Given the description of an element on the screen output the (x, y) to click on. 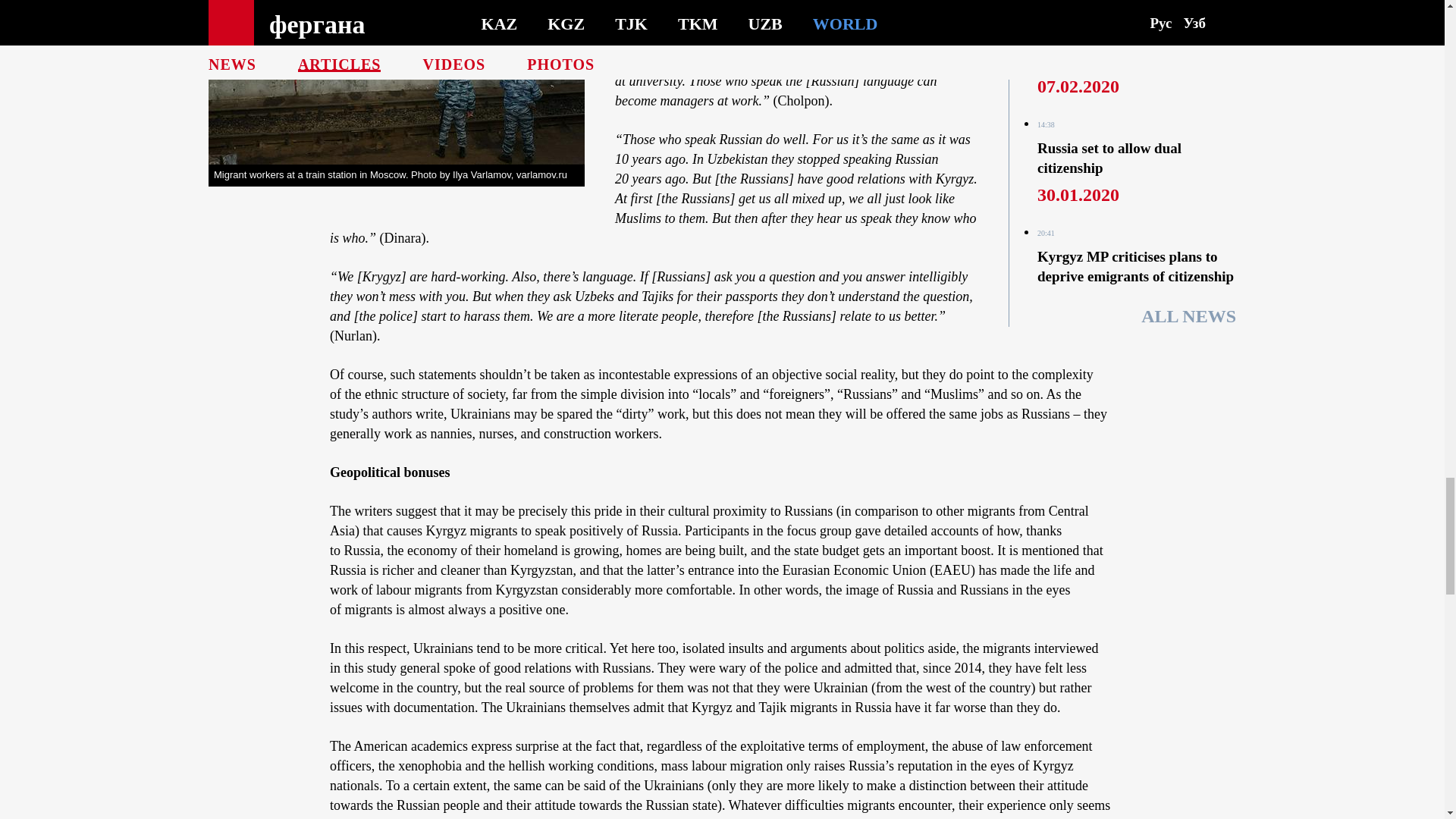
ALL NEWS (1188, 315)
Russia allows dual citizenship for new citizens (1128, 49)
Russia set to allow dual citizenship (1108, 158)
